Given the description of an element on the screen output the (x, y) to click on. 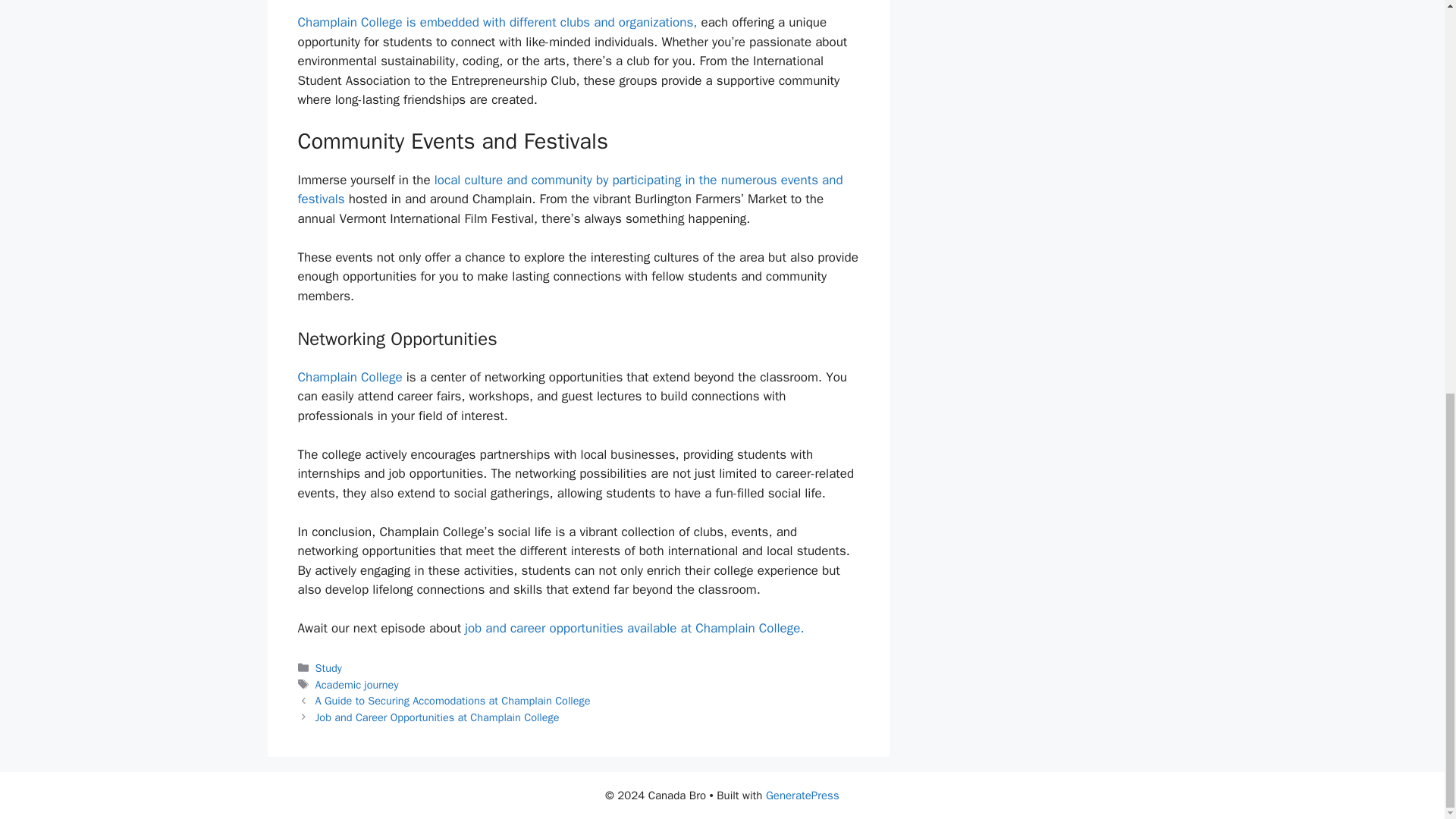
Champlain College (349, 376)
GeneratePress (802, 795)
job and career opportunities available at Champlain College. (633, 627)
Academic journey (356, 684)
A Guide to Securing Accomodations at Champlain College (453, 700)
Study (328, 667)
Job and Career Opportunities at Champlain College (437, 716)
